Given the description of an element on the screen output the (x, y) to click on. 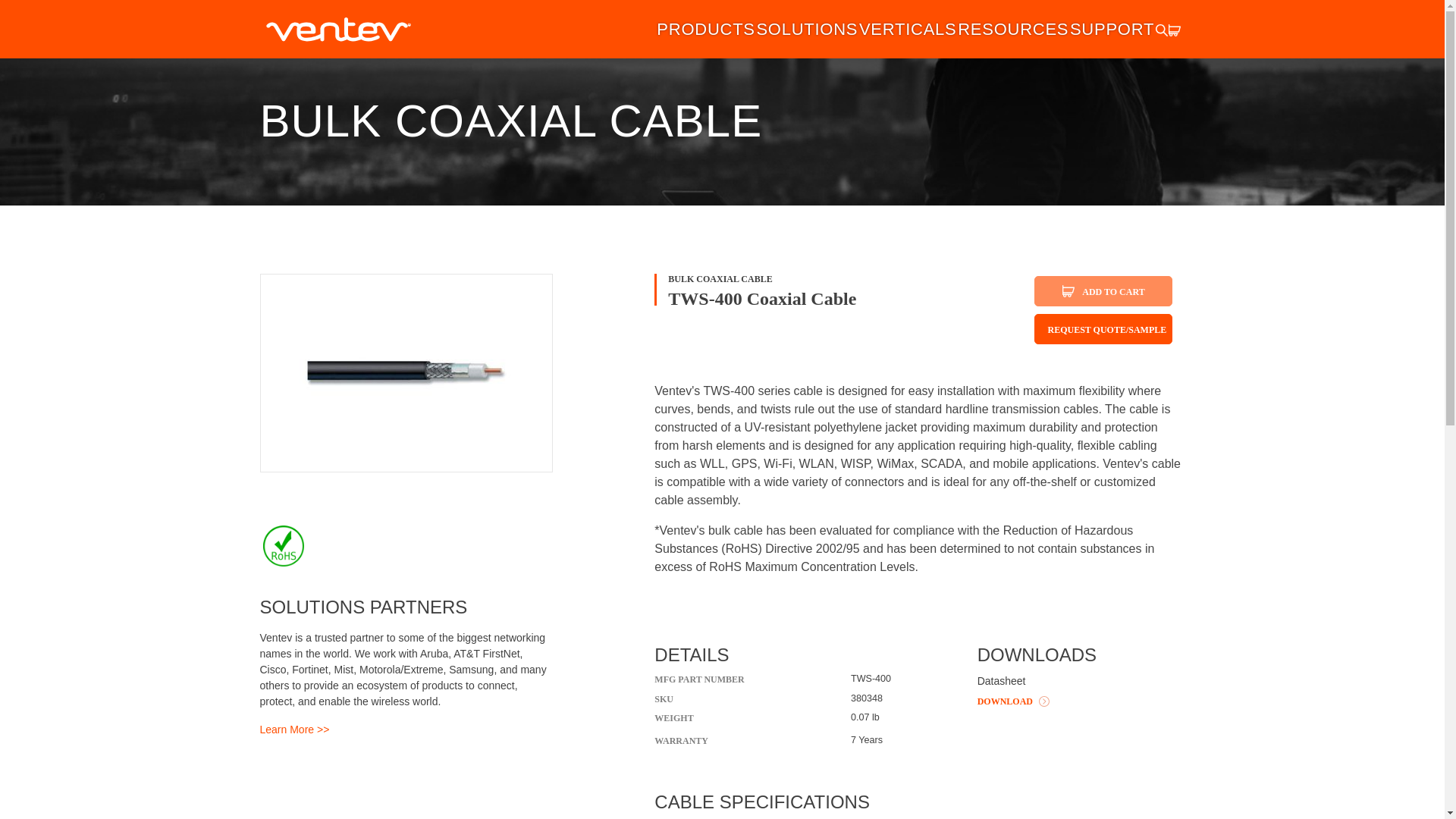
PRODUCTS (705, 28)
SUPPORT (1112, 28)
SOLUTIONS (806, 28)
VERTICALS (907, 28)
RESOURCES (1013, 28)
